Given the description of an element on the screen output the (x, y) to click on. 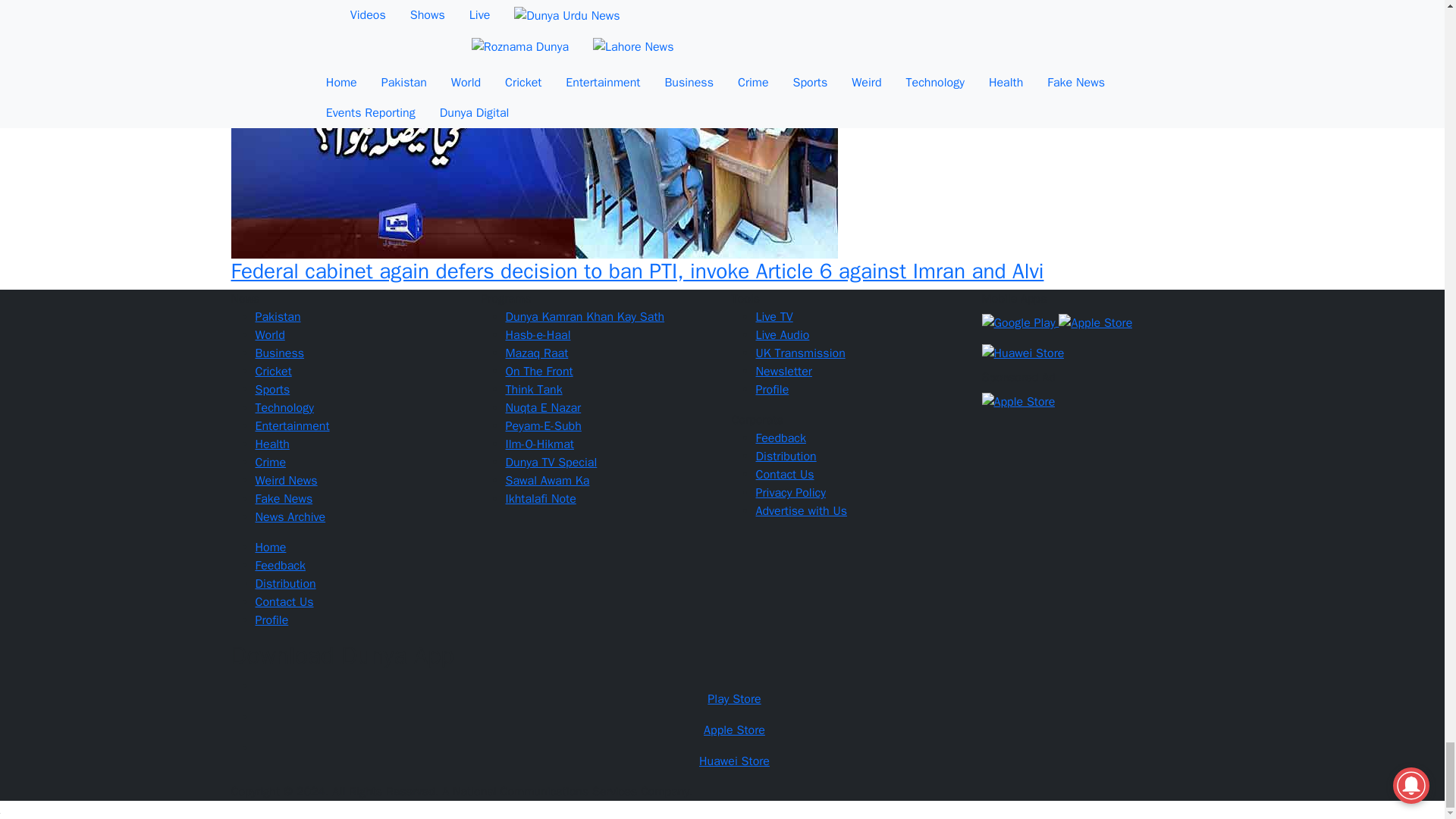
Tooltip on top (721, 791)
